Given the description of an element on the screen output the (x, y) to click on. 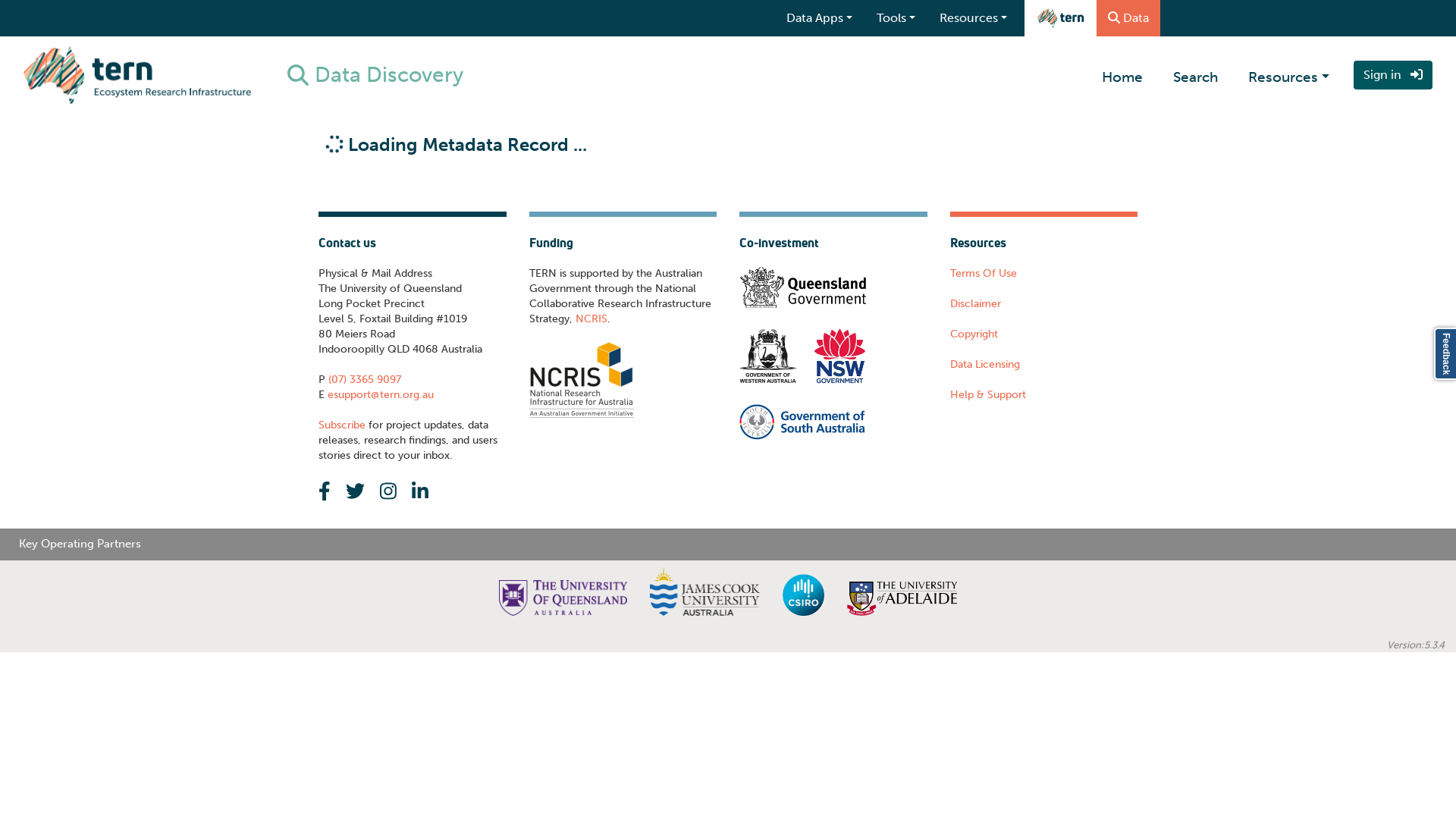
Search Element type: text (1195, 74)
Subscribe Element type: text (341, 424)
Sign in    Element type: text (1392, 74)
esupport@tern.org.au Element type: text (378, 394)
Data Element type: text (1127, 18)
Copyright Element type: text (973, 333)
(07) 3365 9097 Element type: text (363, 379)
Terms Of Use Element type: text (982, 272)
NCRIS Element type: text (590, 318)
Data Licensing Element type: text (984, 363)
Help & Support Element type: text (987, 394)
Home Element type: text (1121, 74)
Resources Element type: text (1288, 74)
Disclaimer Element type: text (974, 303)
